Given the description of an element on the screen output the (x, y) to click on. 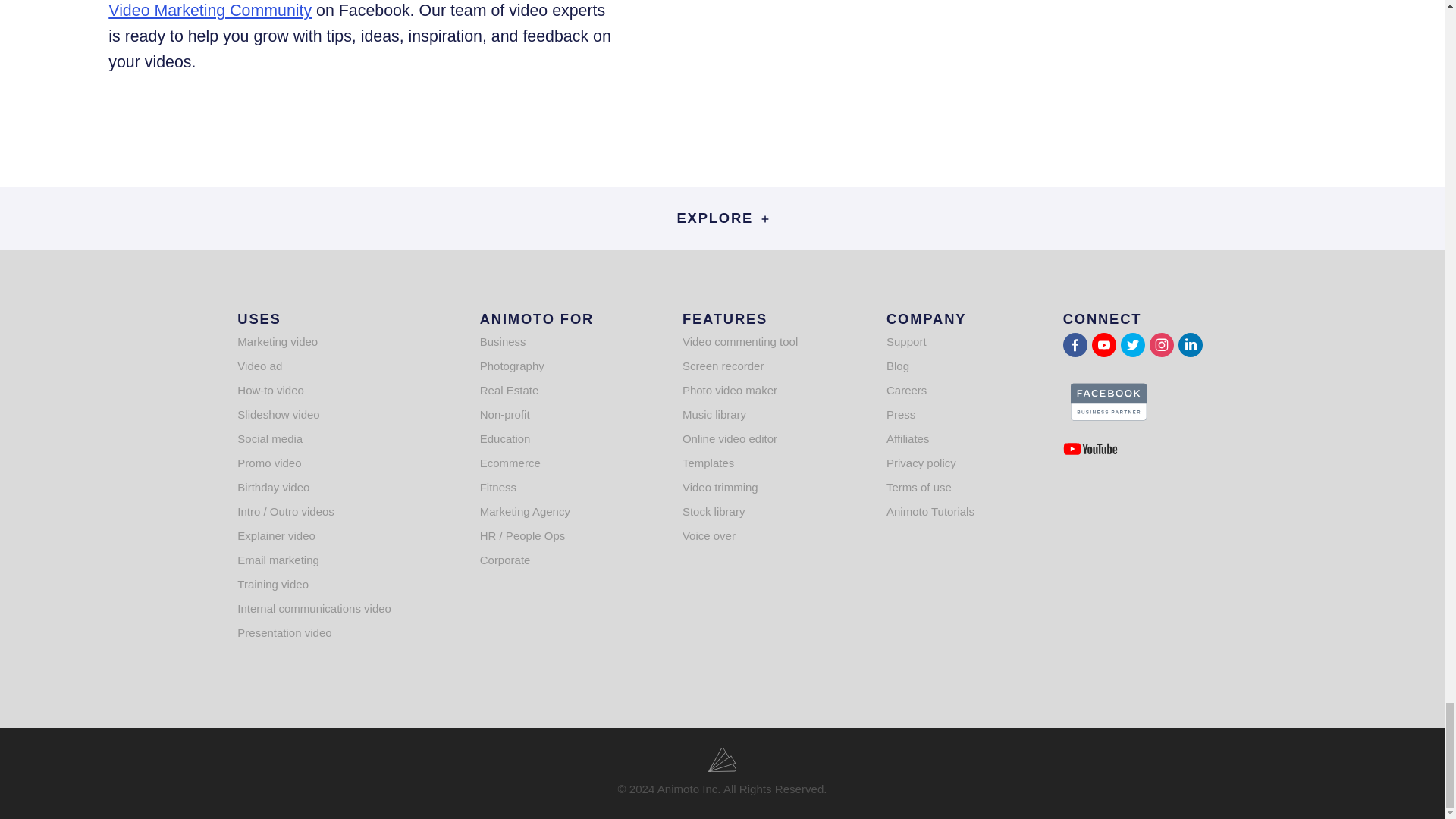
LinkedIn (1189, 344)
Twitter (1132, 344)
Facebook (1074, 344)
PLUS (764, 218)
YouTube (1104, 344)
Instagram (1161, 344)
